Given the description of an element on the screen output the (x, y) to click on. 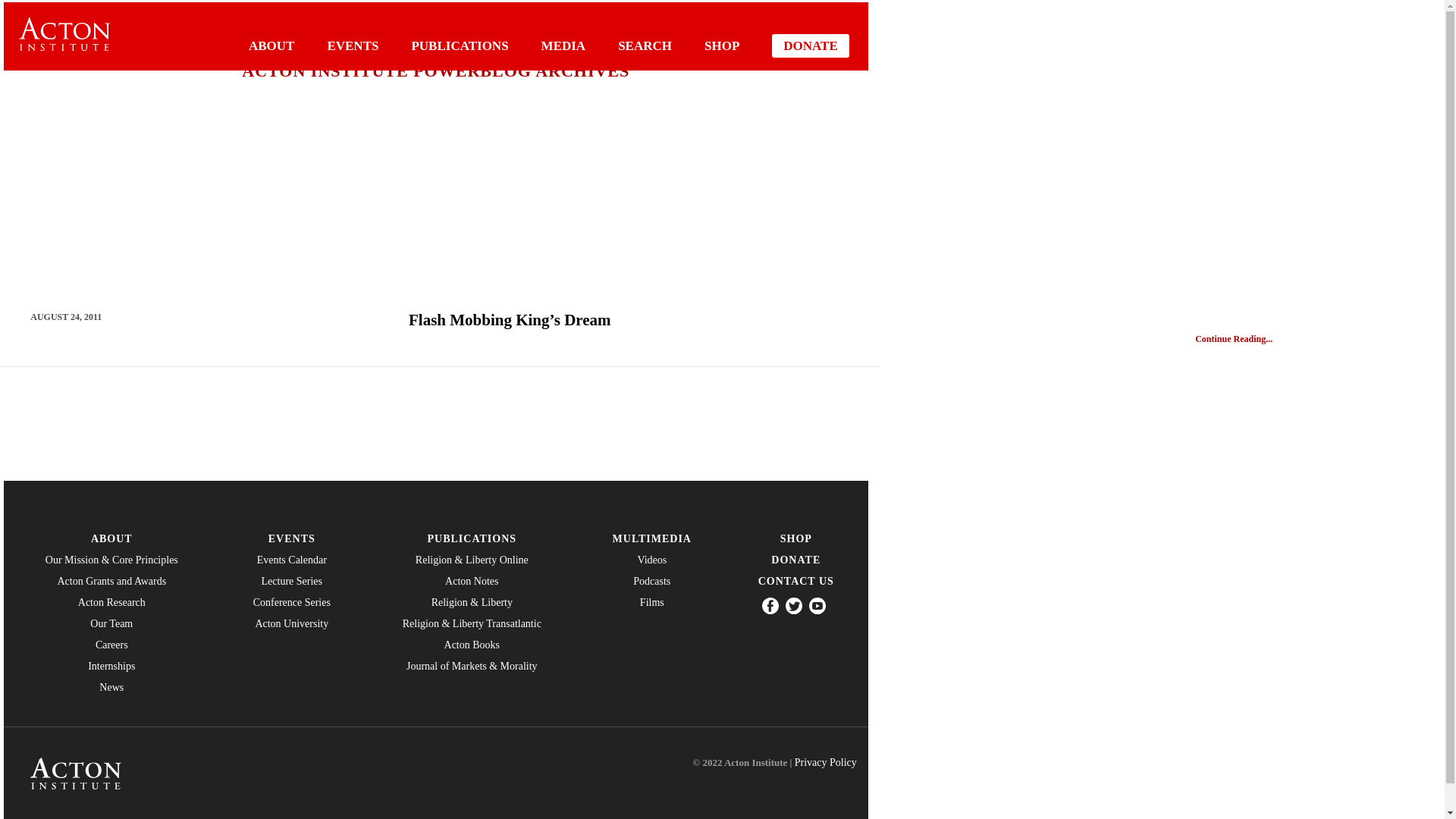
ABOUT (271, 45)
News (111, 687)
MEDIA (563, 45)
Events Calendar (291, 560)
Acton Grants and Awards (111, 581)
ABOUT (111, 538)
Conference Series (291, 602)
EVENTS (352, 45)
The Acton Institute (64, 33)
PUBLICATIONS (459, 45)
